Given the description of an element on the screen output the (x, y) to click on. 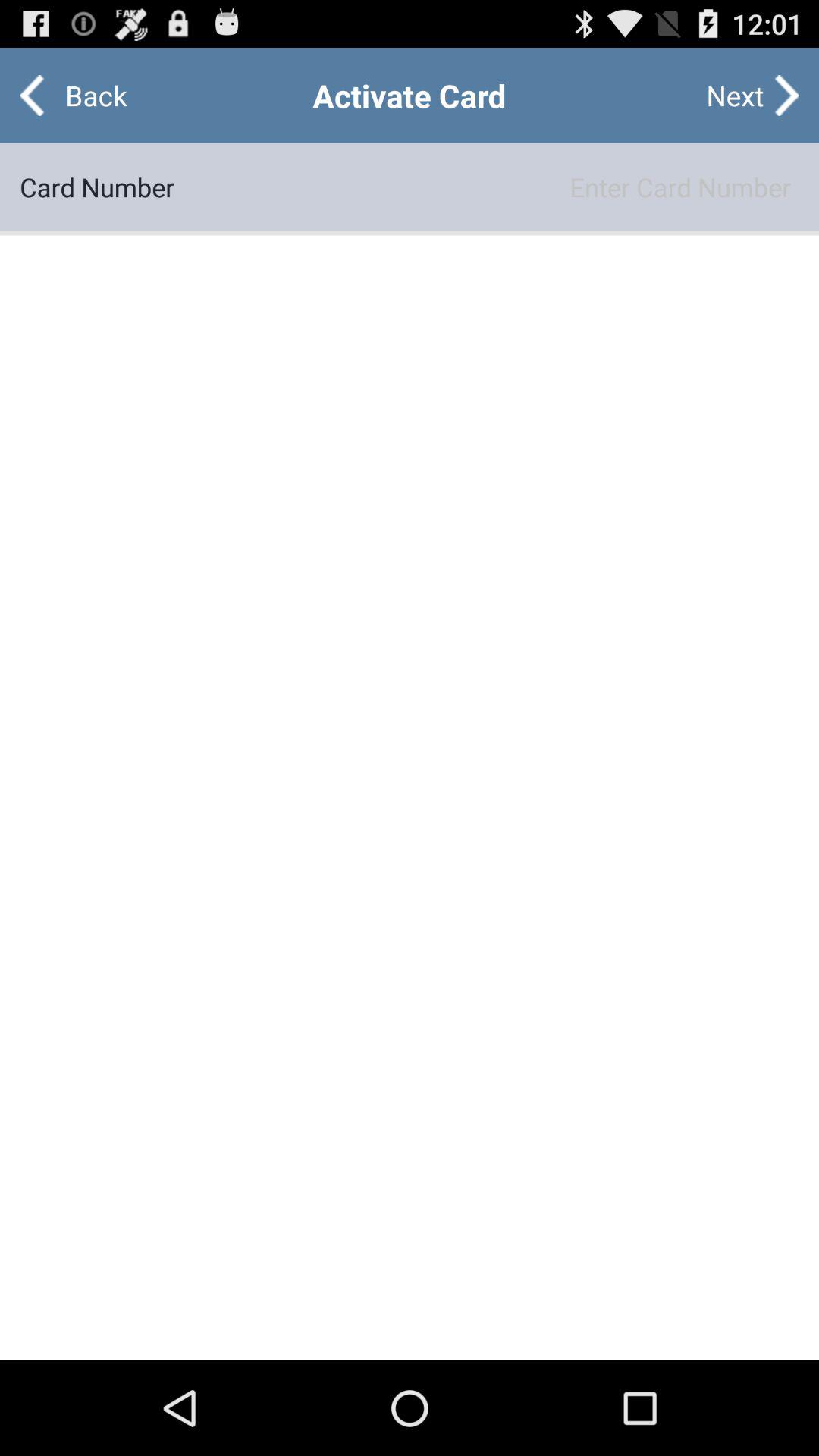
click item below the next (486, 186)
